Given the description of an element on the screen output the (x, y) to click on. 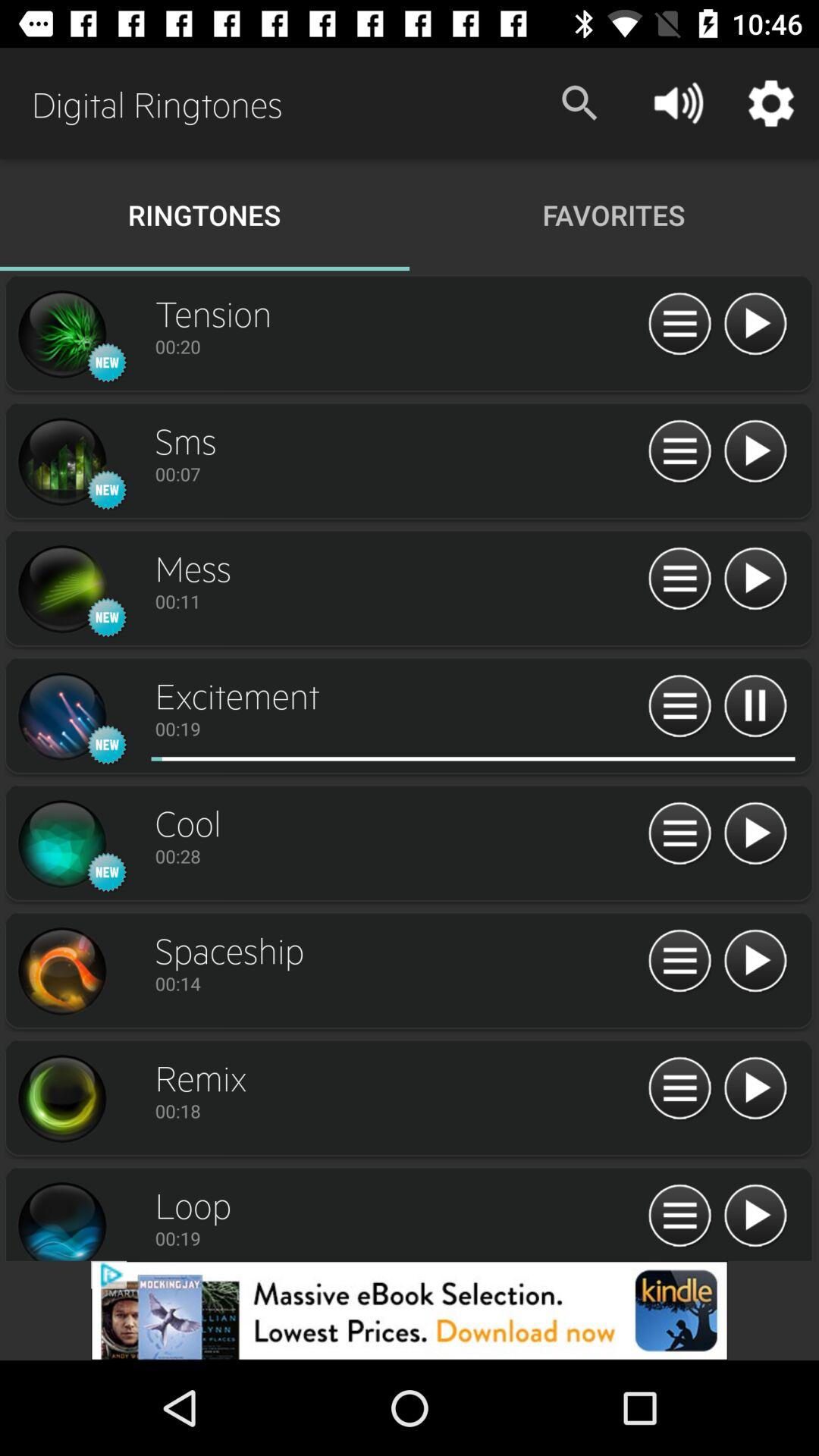
open menu (679, 961)
